Given the description of an element on the screen output the (x, y) to click on. 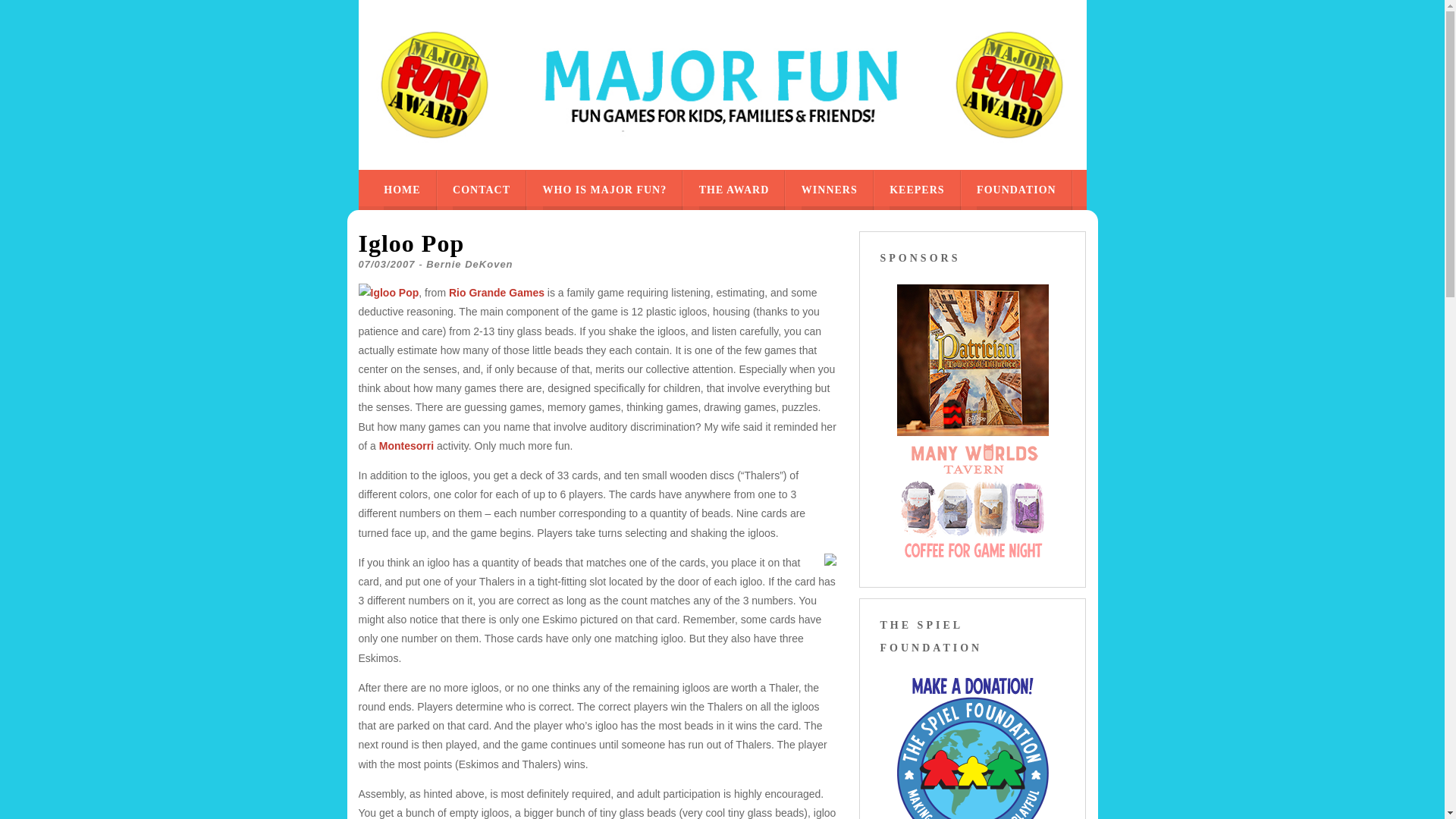
WINNERS (829, 189)
Igloo Pop (394, 292)
KEEPERS (916, 189)
WHO IS MAJOR FUN? (604, 189)
HOME (402, 189)
Montesorri (405, 445)
CONTACT (481, 189)
Rio Grande Games (496, 292)
THE AWARD (734, 189)
FOUNDATION (1016, 189)
Bernie DeKoven (469, 264)
